Given the description of an element on the screen output the (x, y) to click on. 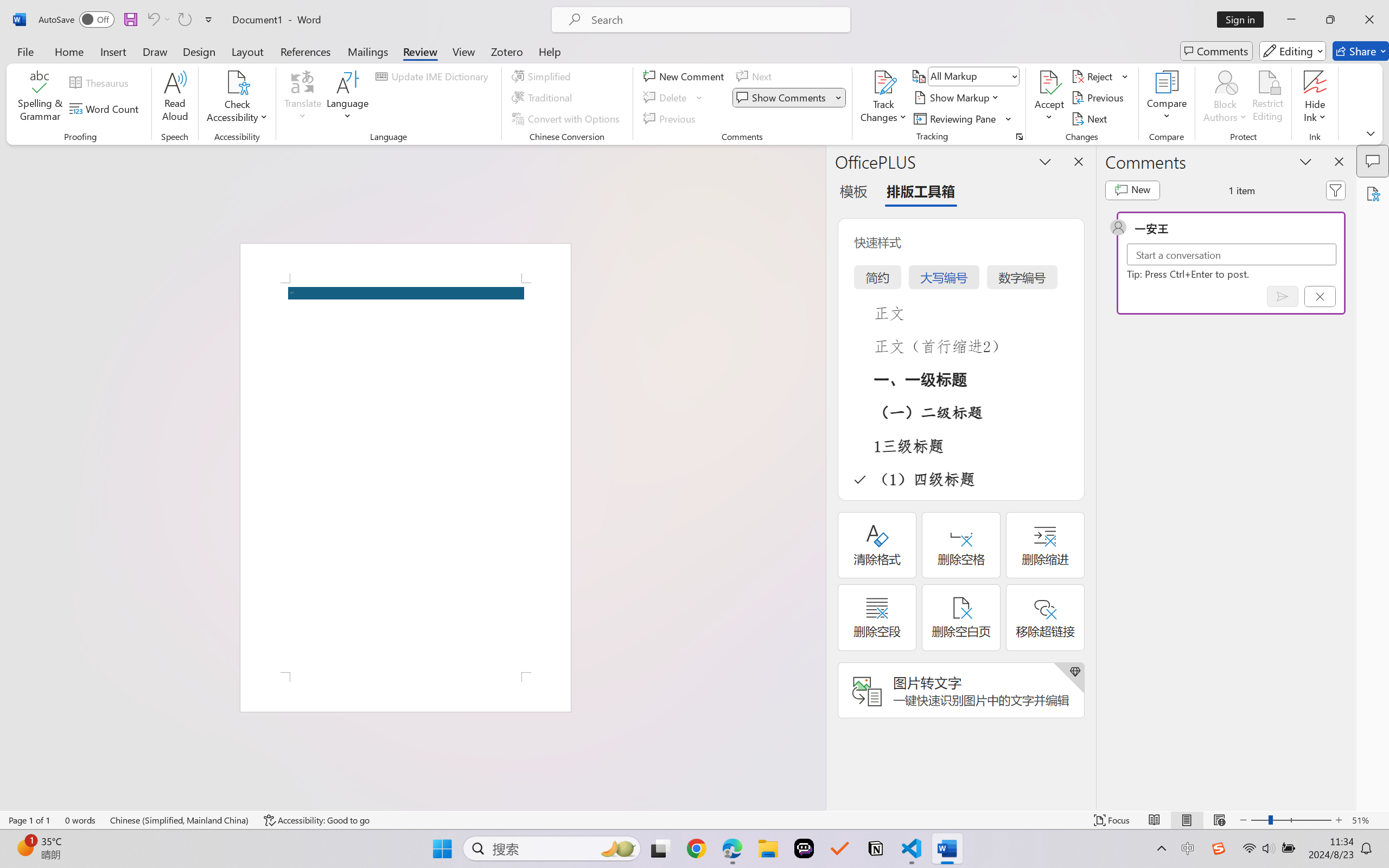
Restrict Editing (1267, 97)
Word Count (105, 108)
Thesaurus... (101, 82)
Traditional (543, 97)
Update IME Dictionary... (433, 75)
